Given the description of an element on the screen output the (x, y) to click on. 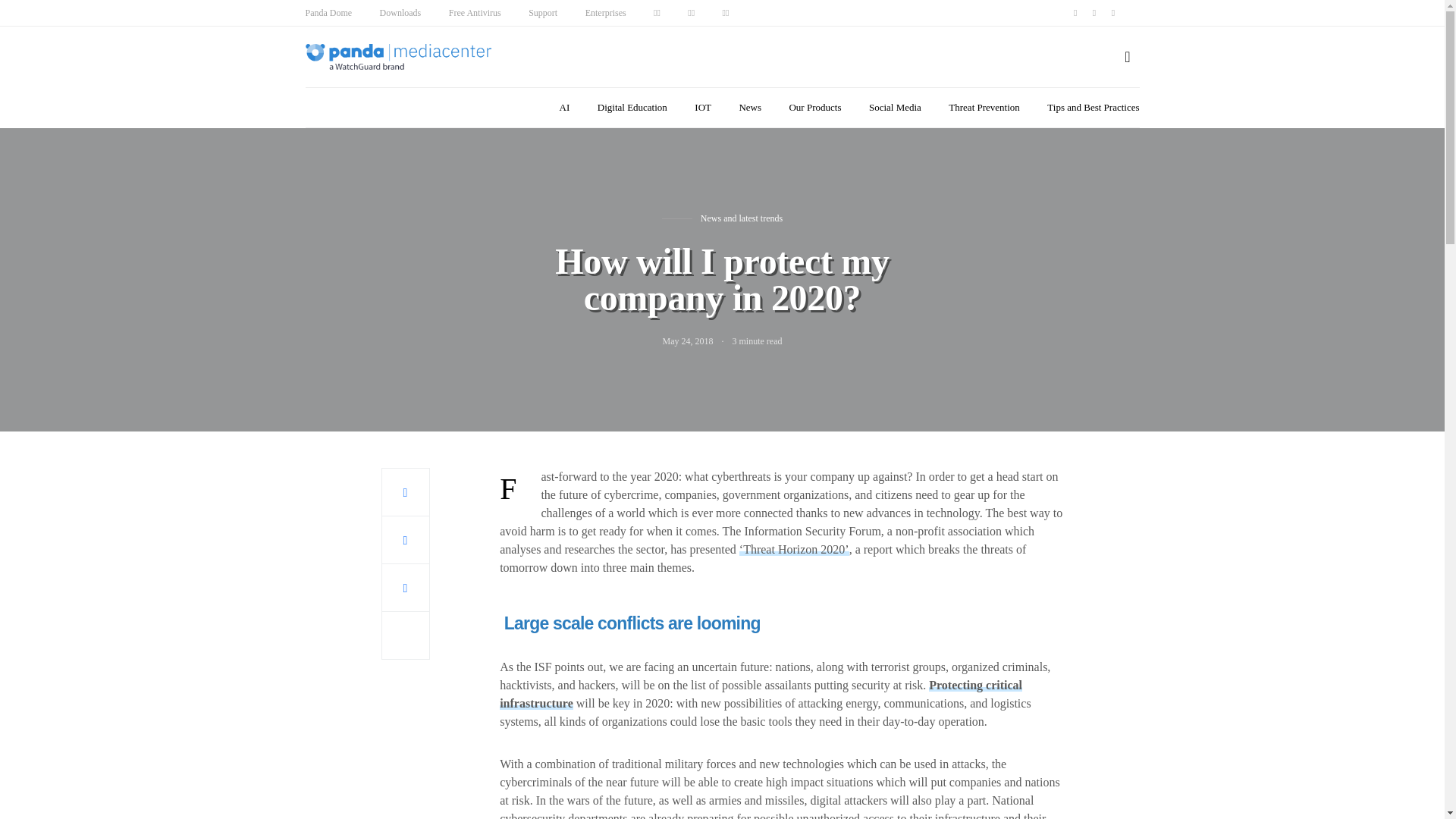
Threat Prevention (984, 107)
Panda Dome (328, 12)
Tips and Best Practices (1092, 107)
Support (542, 12)
Downloads (401, 12)
already preparing (690, 815)
Enterprises (605, 12)
Social Media (895, 107)
Protecting critical infrastructure (760, 694)
Free Antivirus (474, 12)
